Given the description of an element on the screen output the (x, y) to click on. 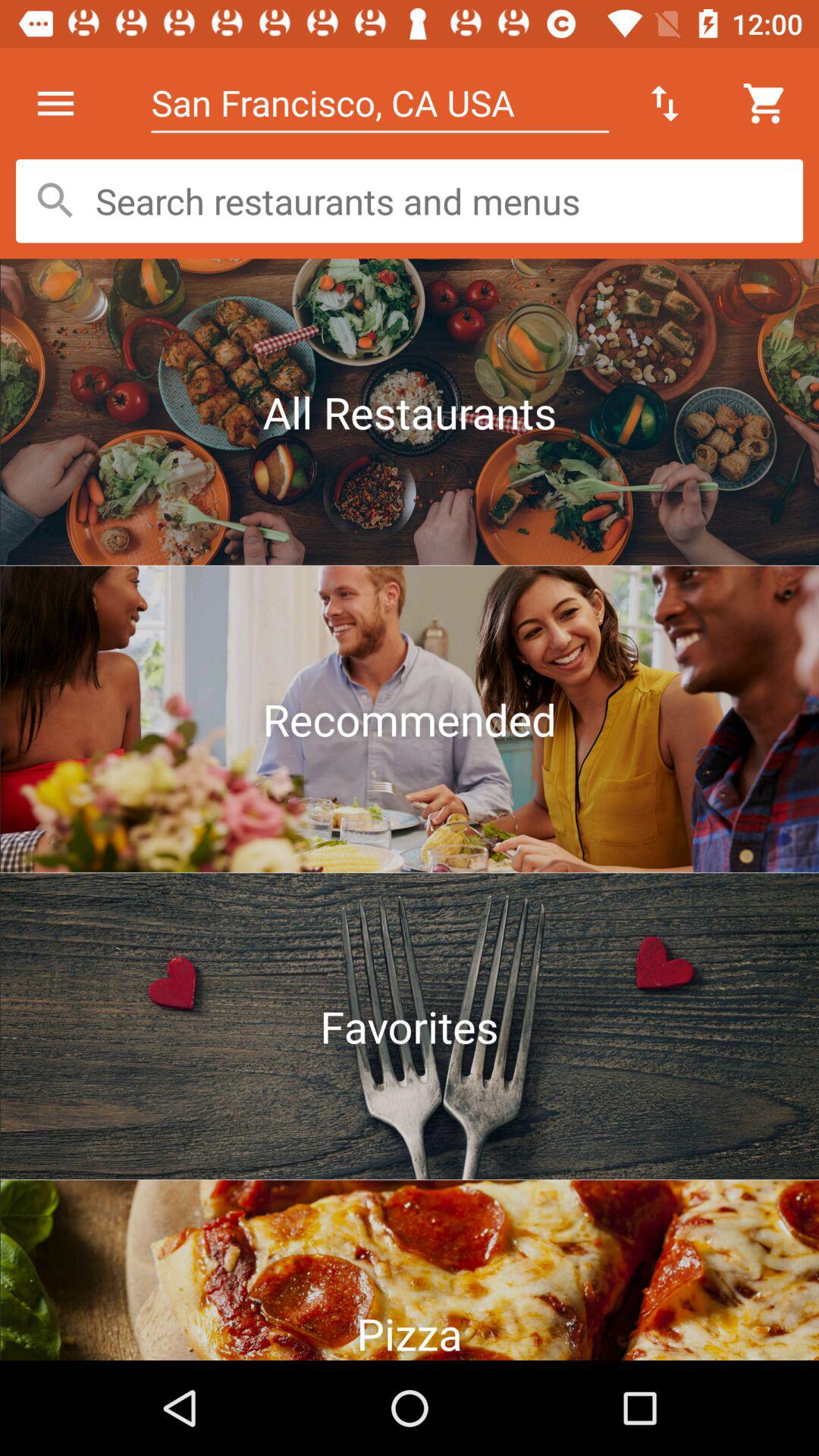
search for restaurants or menus (409, 200)
